Given the description of an element on the screen output the (x, y) to click on. 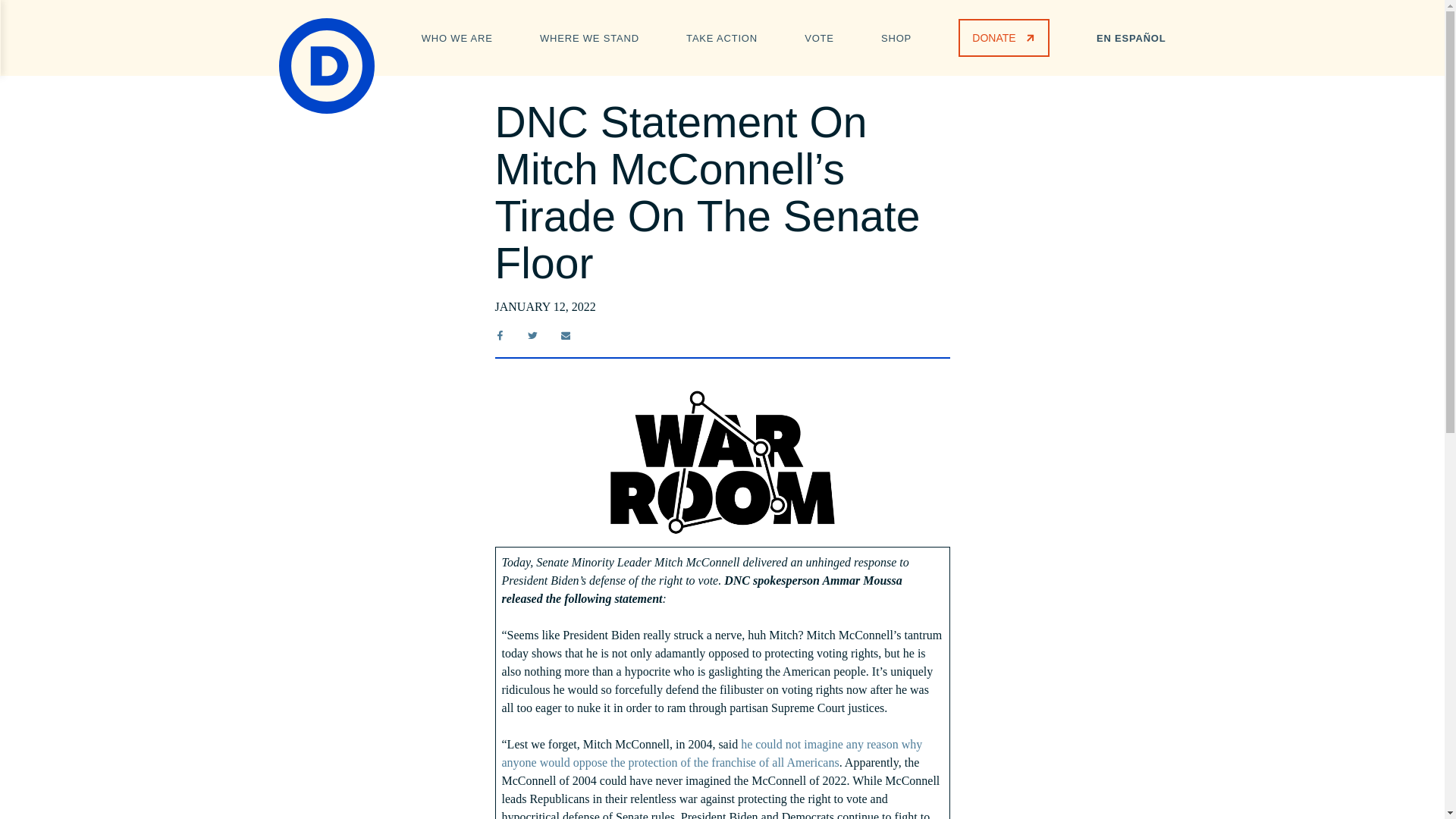
DNC (326, 65)
SHOP (895, 36)
DONATE (1003, 37)
Livechat launcher icon (1406, 780)
TAKE ACTION (721, 36)
email (565, 335)
WHO WE ARE (457, 36)
twitter (532, 335)
WHERE WE STAND (589, 36)
facebook (499, 335)
VOTE (819, 36)
